Given the description of an element on the screen output the (x, y) to click on. 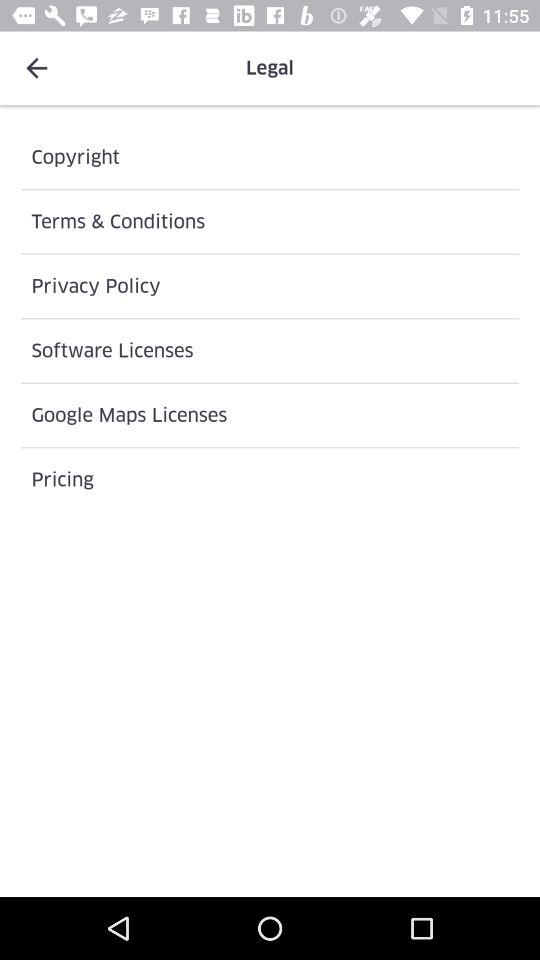
turn on icon at the top left corner (36, 68)
